Given the description of an element on the screen output the (x, y) to click on. 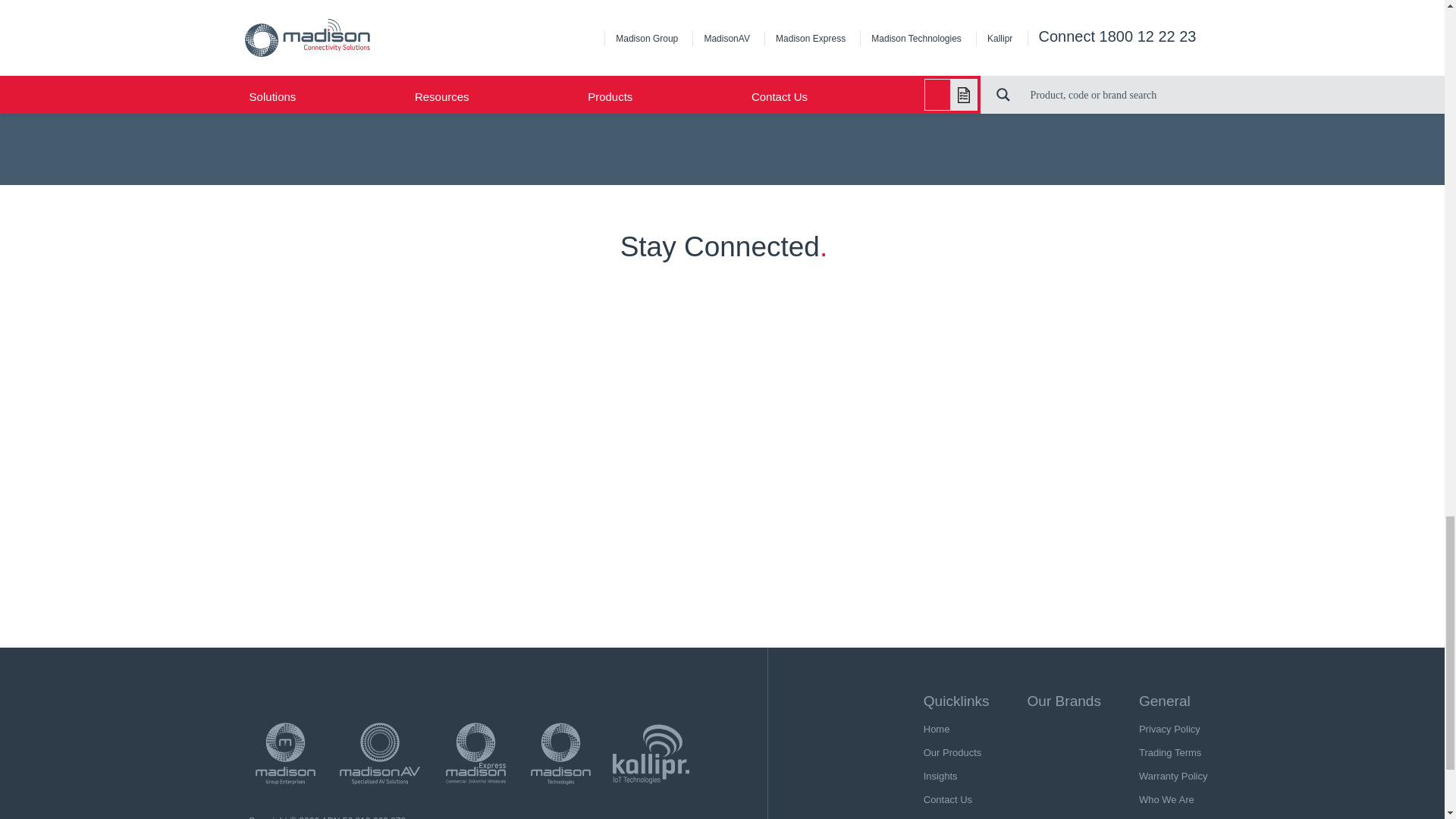
Madison Express (475, 753)
Madison Technologies (560, 753)
Madison Group Enterprises (284, 753)
Kallipr (651, 753)
MadisonAV (379, 753)
